Given the description of an element on the screen output the (x, y) to click on. 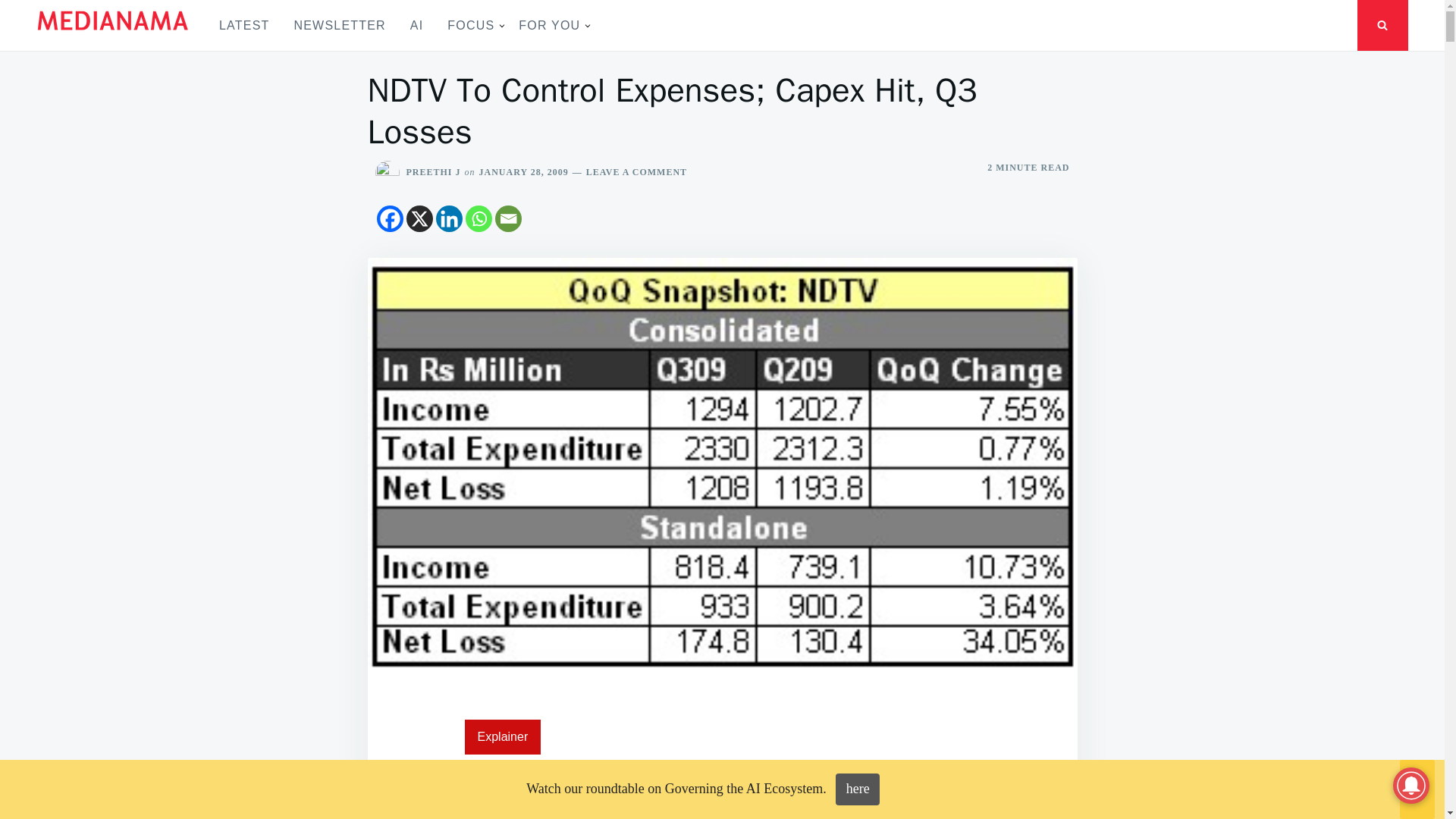
X (419, 218)
MEDIANAMA (95, 55)
JANUARY 28, 2009 (524, 172)
Linkedin (448, 218)
PREETHI J (433, 172)
Whatsapp (478, 218)
Email (508, 218)
FOCUS (470, 25)
NEWSLETTER (339, 25)
LATEST (243, 25)
q309-snapshot-ndtv (875, 797)
FOR YOU (549, 25)
report (697, 793)
Facebook (389, 218)
